Given the description of an element on the screen output the (x, y) to click on. 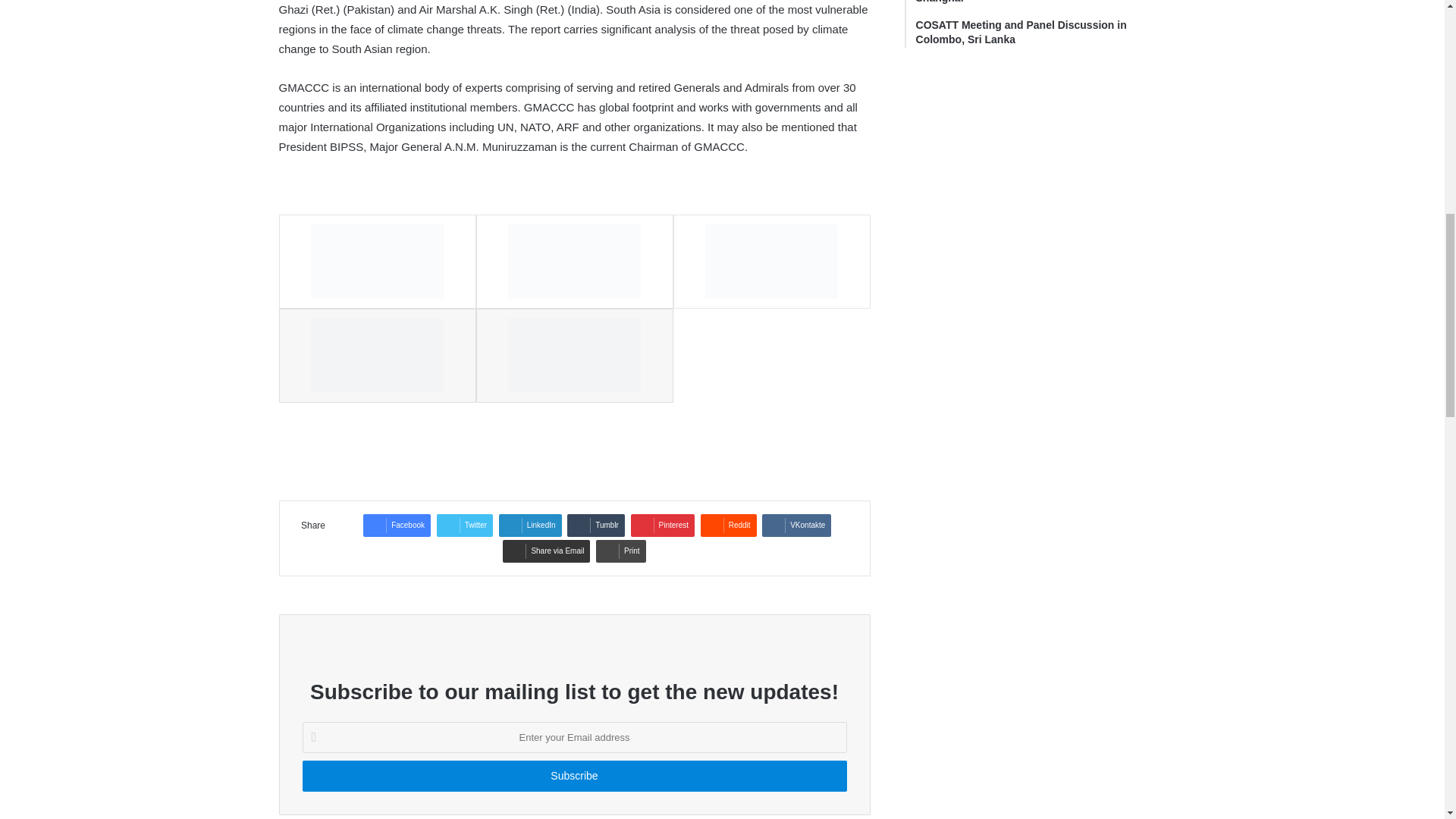
Pinterest (662, 525)
Subscribe (573, 775)
LinkedIn (530, 525)
Tumblr (595, 525)
Facebook (396, 525)
Reddit (728, 525)
Twitter (464, 525)
VKontakte (796, 525)
